Given the description of an element on the screen output the (x, y) to click on. 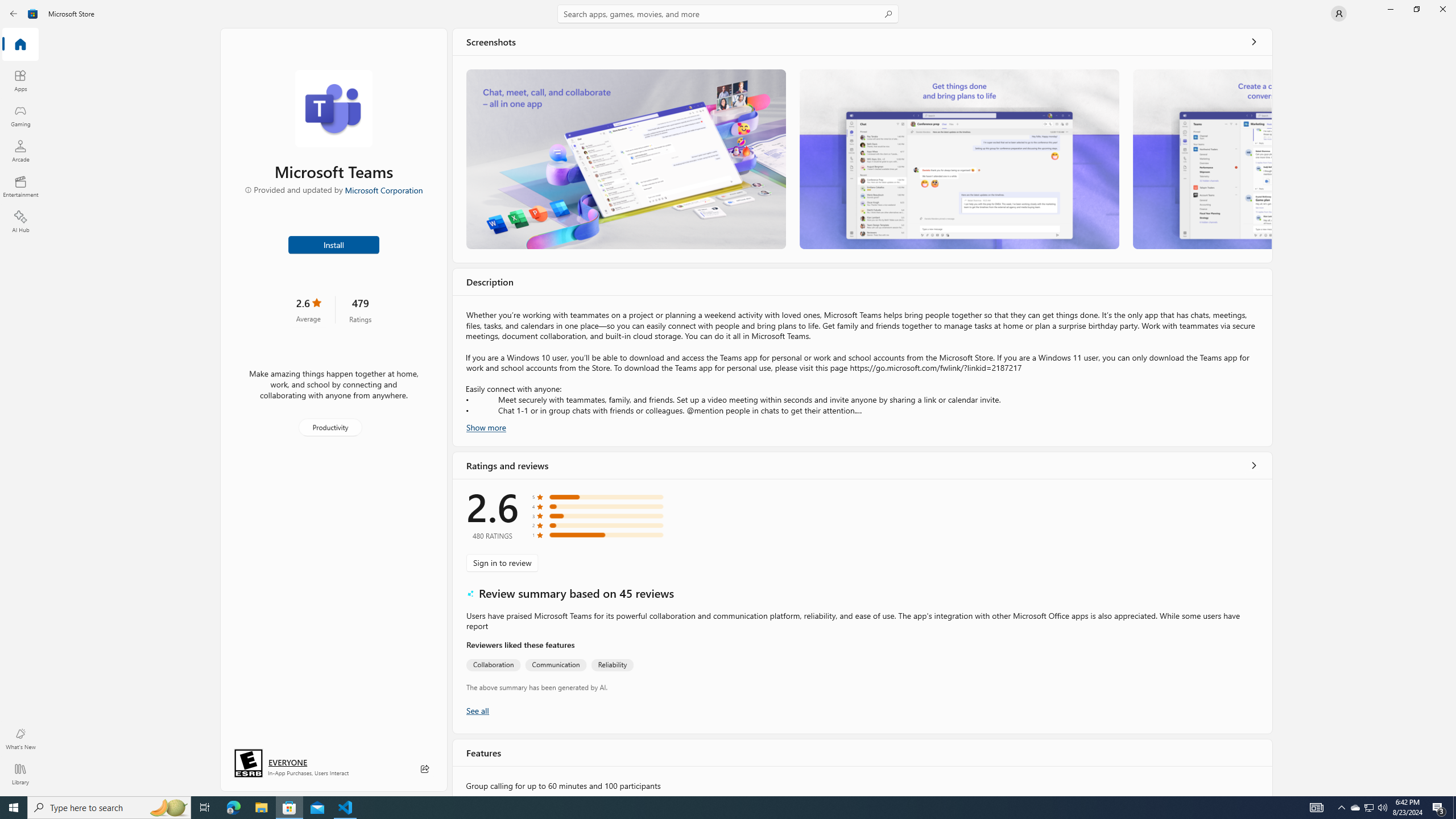
Productivity (329, 426)
Age rating: EVERYONE. Click for more information. (287, 762)
Show more (485, 426)
Screenshot 1 (625, 158)
2.6 stars. Click to skip to ratings and reviews (307, 309)
Back (13, 13)
Screenshot 2 (959, 158)
